Given the description of an element on the screen output the (x, y) to click on. 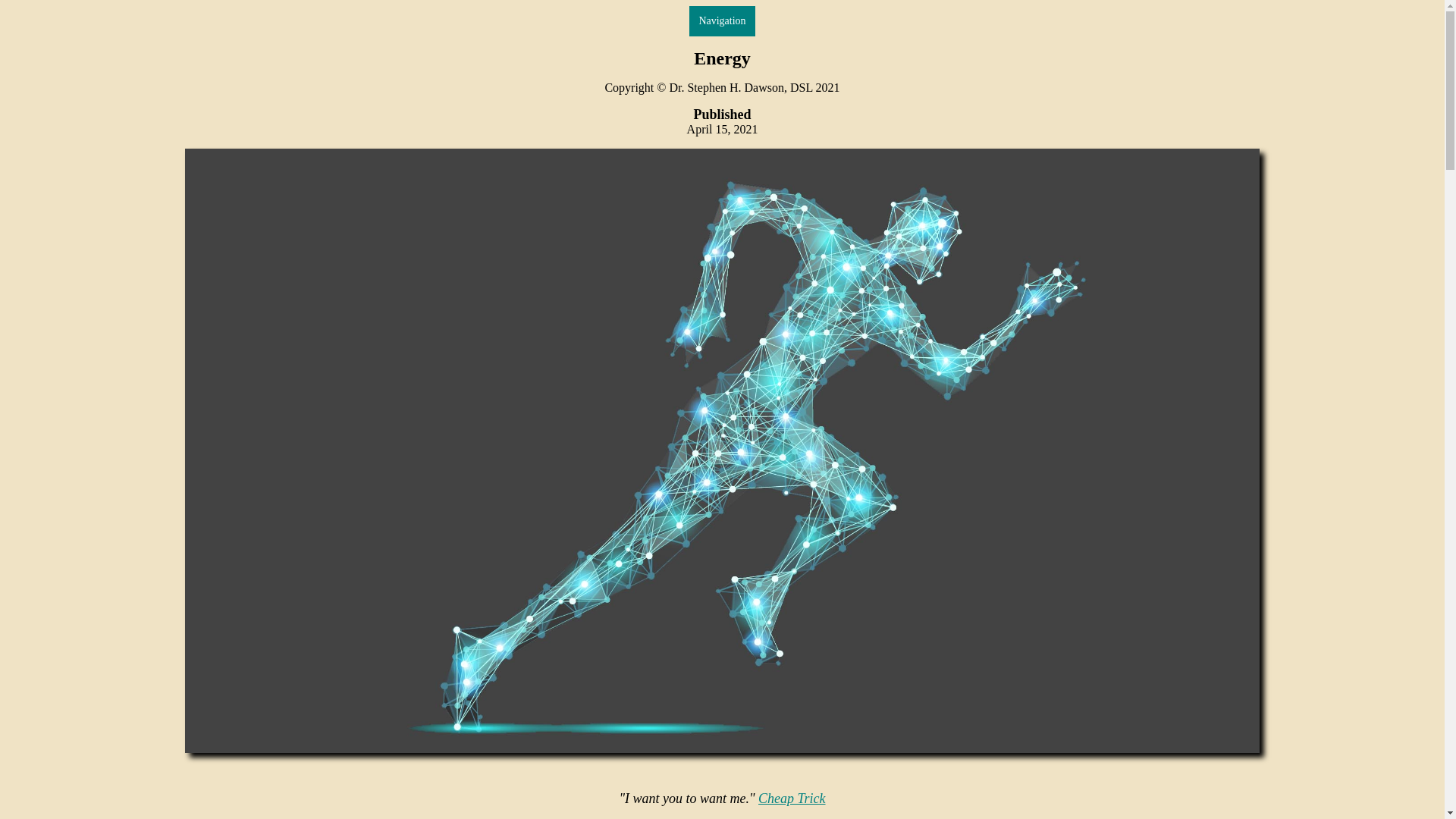
Navigation (721, 20)
Cheap Trick (791, 798)
